Given the description of an element on the screen output the (x, y) to click on. 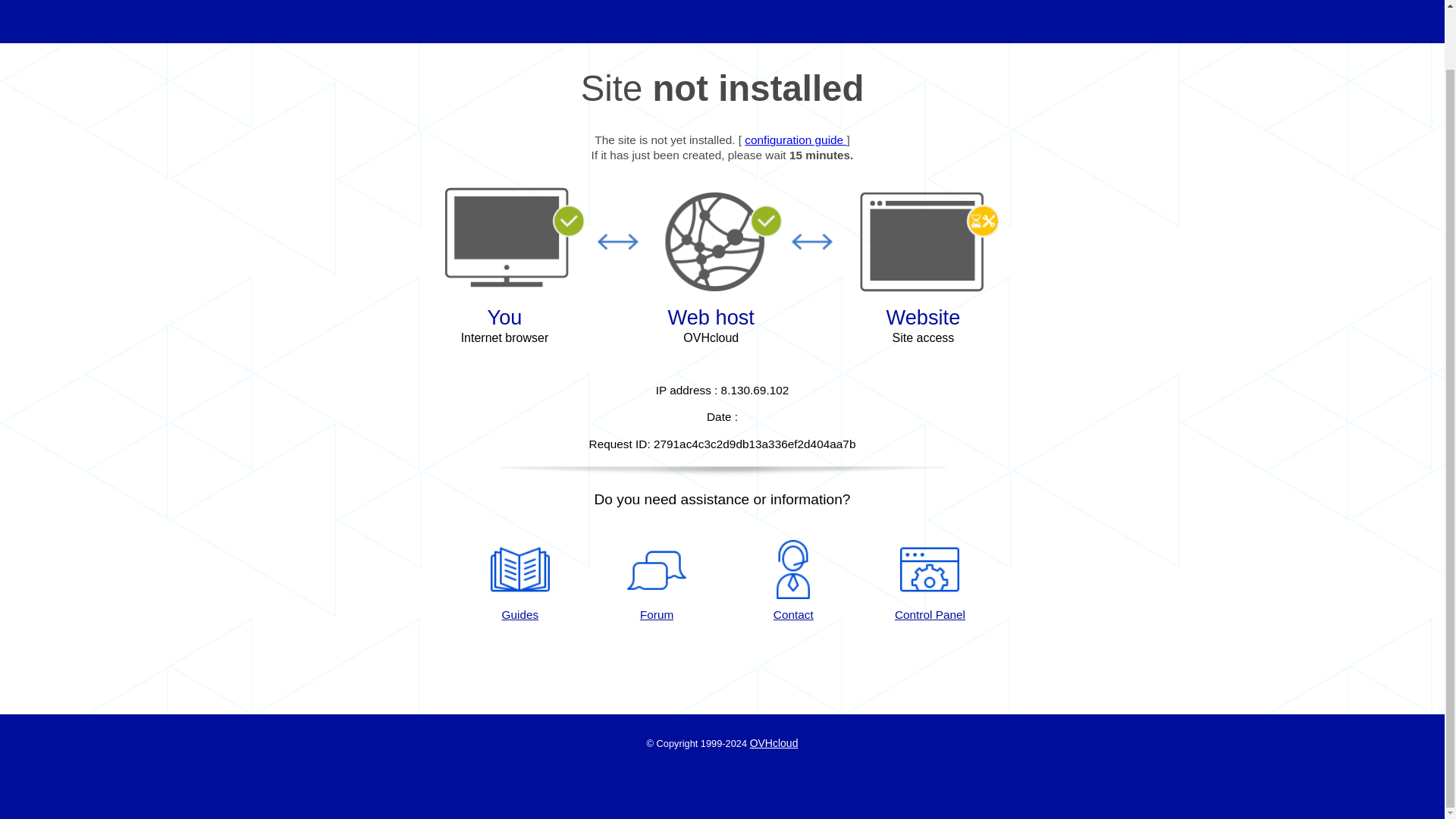
OVHcloud (773, 743)
Guides (794, 139)
Guides (519, 581)
Contact (793, 581)
Contact (793, 581)
configuration guide (794, 139)
Guides (519, 581)
Control Panel (930, 581)
Forum (656, 581)
Forum (656, 581)
